Given the description of an element on the screen output the (x, y) to click on. 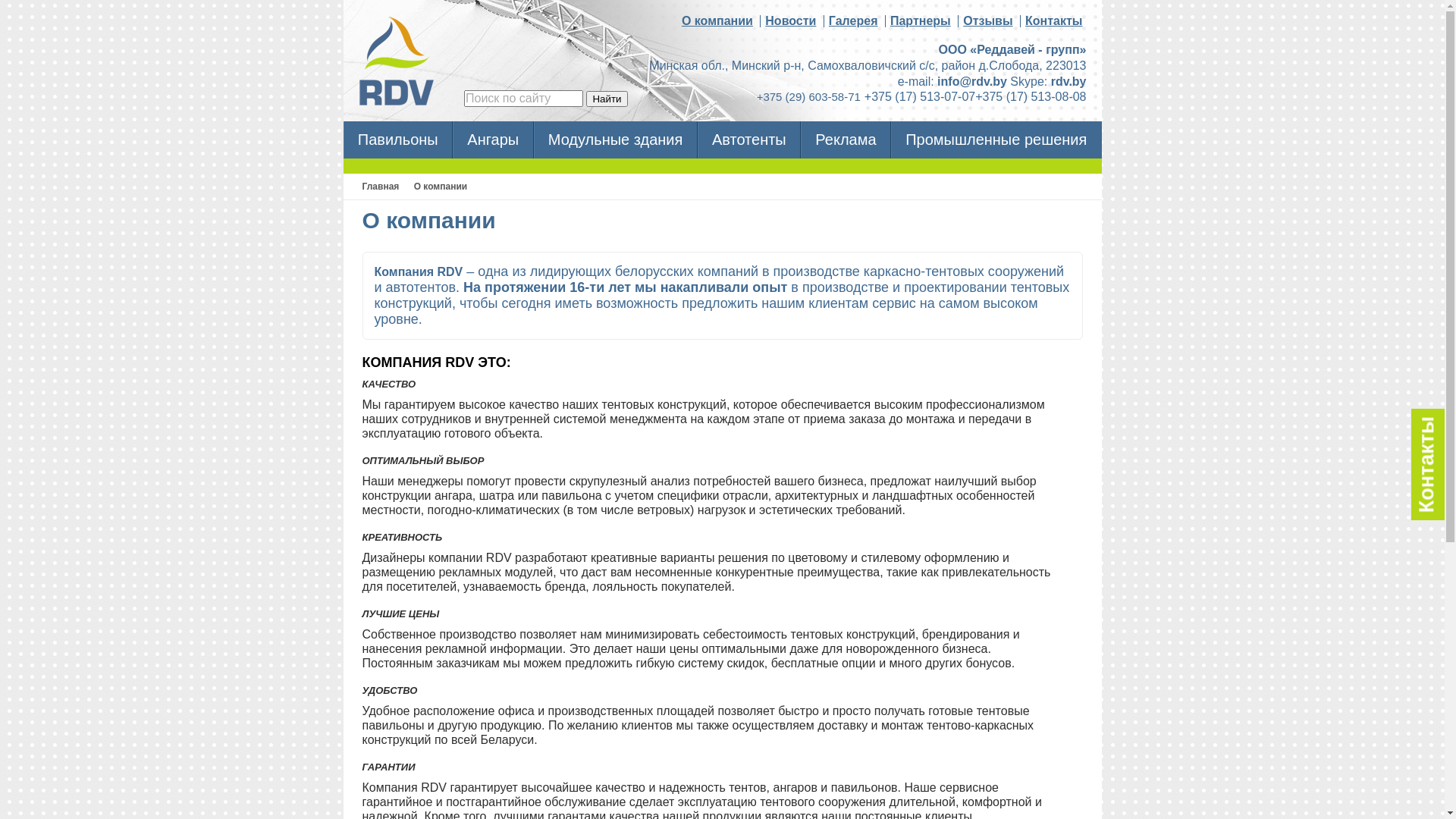
+375 (17) 513-08-08 Element type: text (1030, 96)
+375 (17) 513-07-07 Element type: text (919, 96)
info@rdv.by Element type: text (972, 81)
rdv.by Element type: text (1068, 81)
+375 (29) 603-58-71 Element type: text (808, 96)
